Given the description of an element on the screen output the (x, y) to click on. 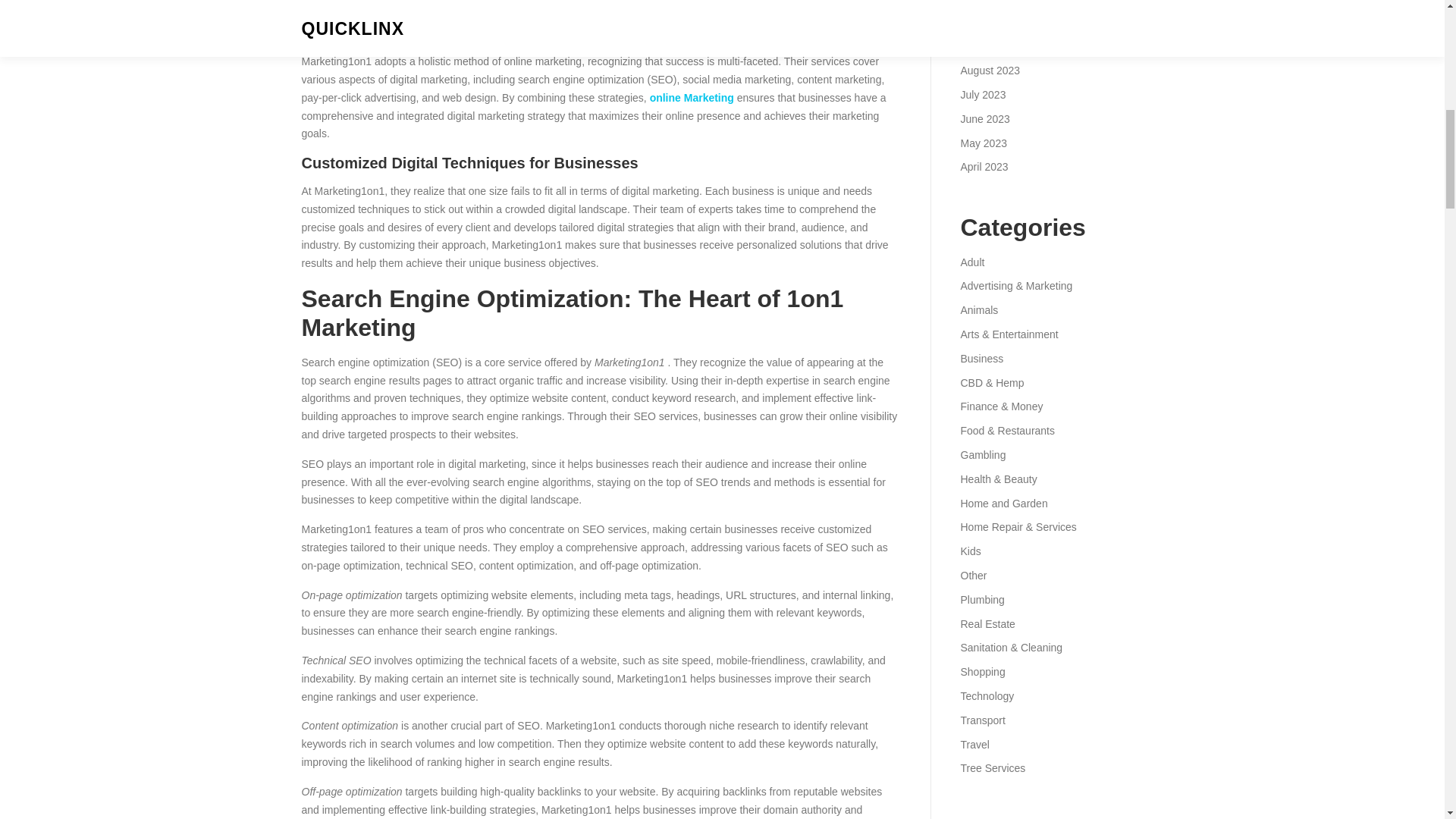
June 2023 (984, 119)
July 2023 (982, 94)
Adult (971, 262)
Business (981, 358)
September 2023 (999, 46)
November 2023 (997, 2)
May 2023 (982, 143)
October 2023 (992, 22)
August 2023 (989, 70)
Animals (978, 309)
online Marketing (691, 97)
April 2023 (983, 166)
